Given the description of an element on the screen output the (x, y) to click on. 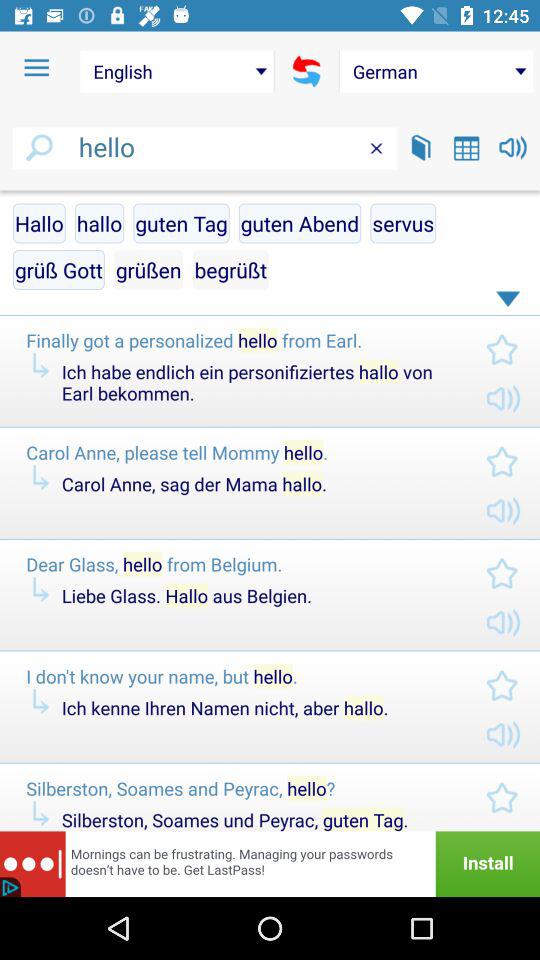
advertisement (270, 864)
